Given the description of an element on the screen output the (x, y) to click on. 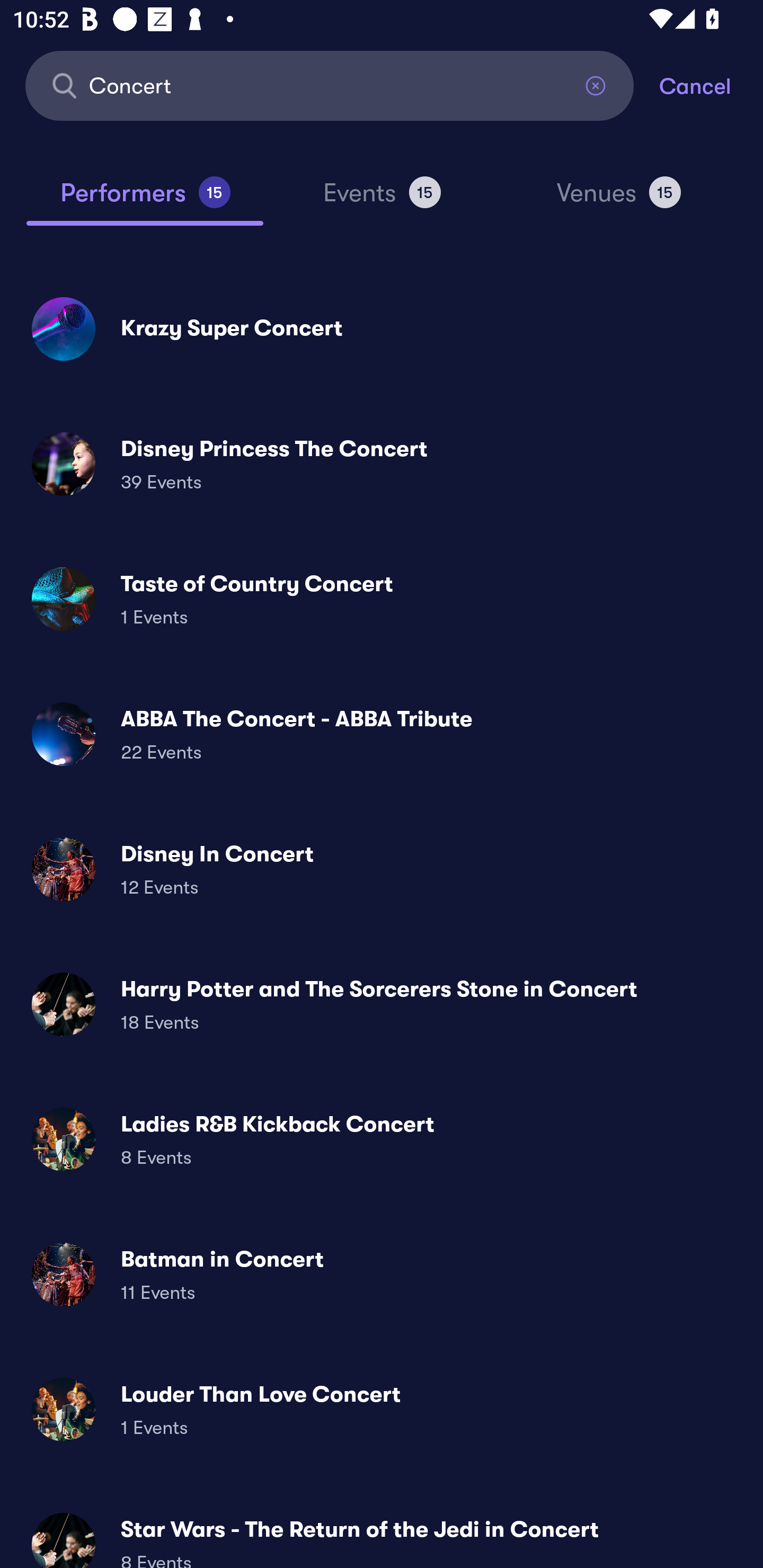
Concert Find (329, 85)
Concert Find (329, 85)
Cancel (711, 85)
Performers 15 (144, 200)
Events 15 (381, 200)
Venues 15 (618, 200)
Krazy Super Concert (381, 328)
Disney Princess The Concert 39 Events (381, 464)
Taste of Country Concert 1 Events (381, 598)
ABBA The Concert - ABBA Tribute 22 Events (381, 734)
Disney In Concert 12 Events (381, 869)
Ladies R&B Kickback Concert 8 Events (381, 1138)
Batman in Concert 11 Events (381, 1273)
Louder Than Love Concert 1 Events (381, 1409)
